Given the description of an element on the screen output the (x, y) to click on. 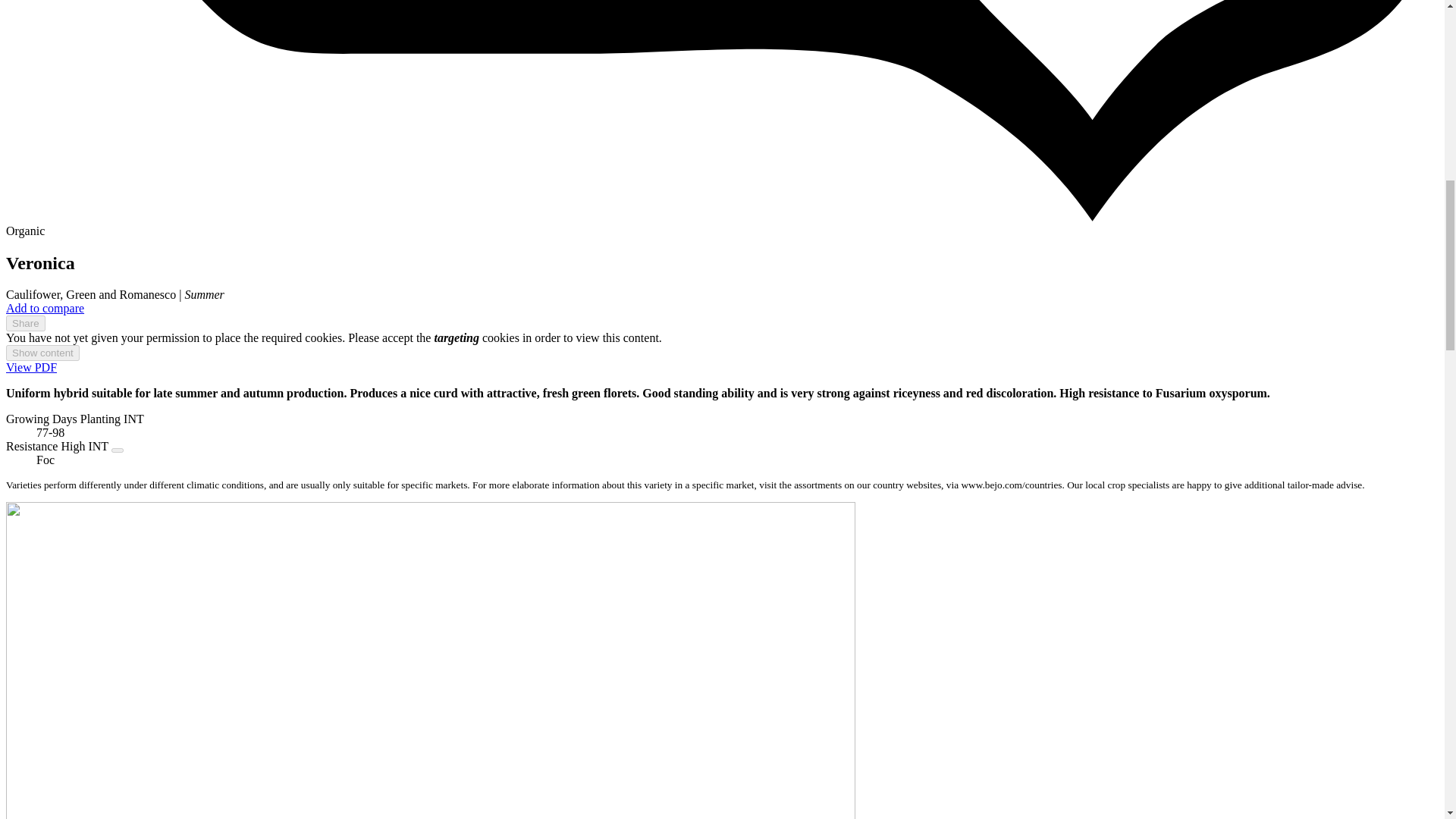
Show content (42, 352)
Share (25, 323)
Add to compare (44, 308)
View PDF (30, 367)
